Given the description of an element on the screen output the (x, y) to click on. 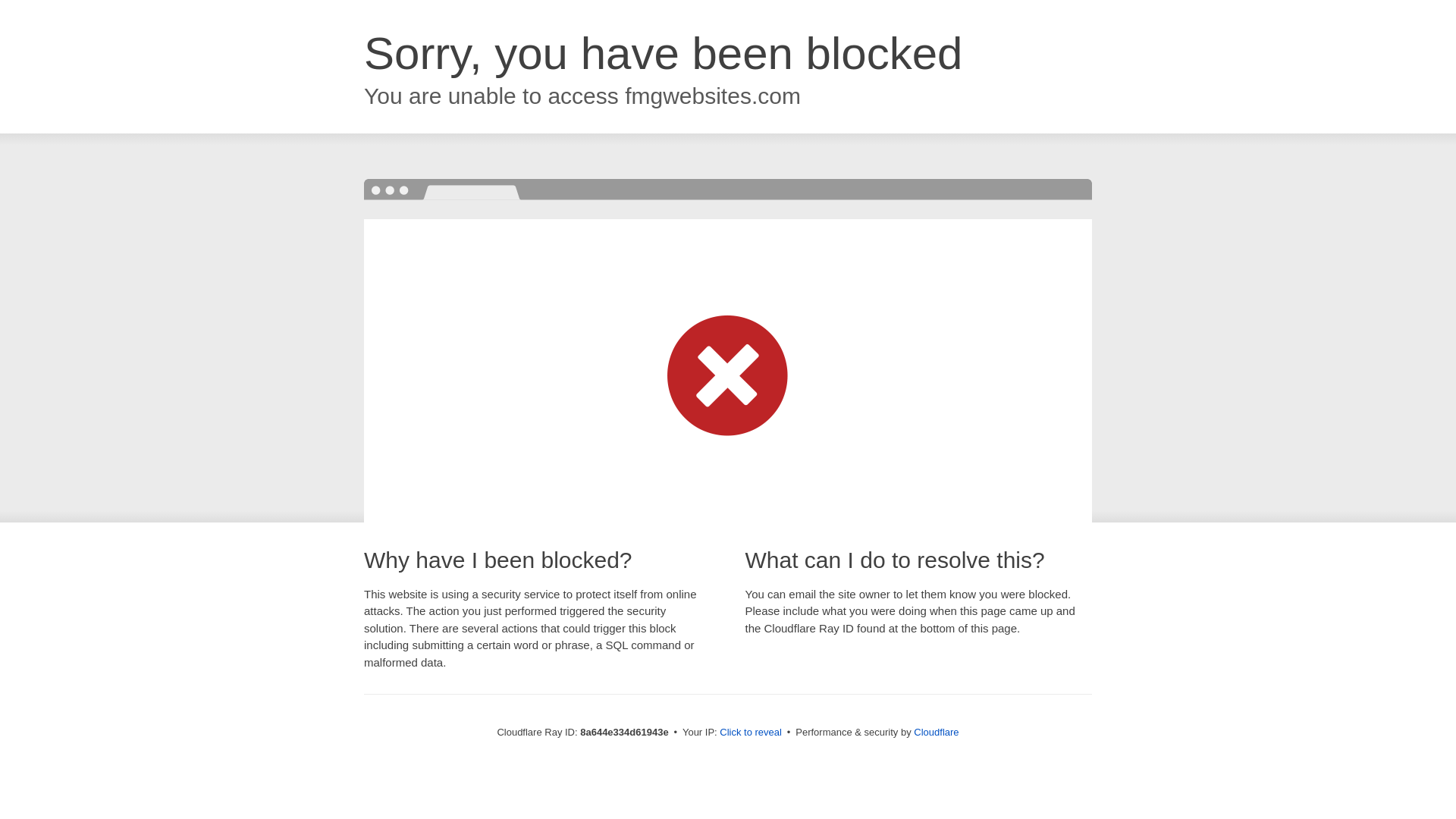
Click to reveal (750, 732)
Cloudflare (936, 731)
